Given the description of an element on the screen output the (x, y) to click on. 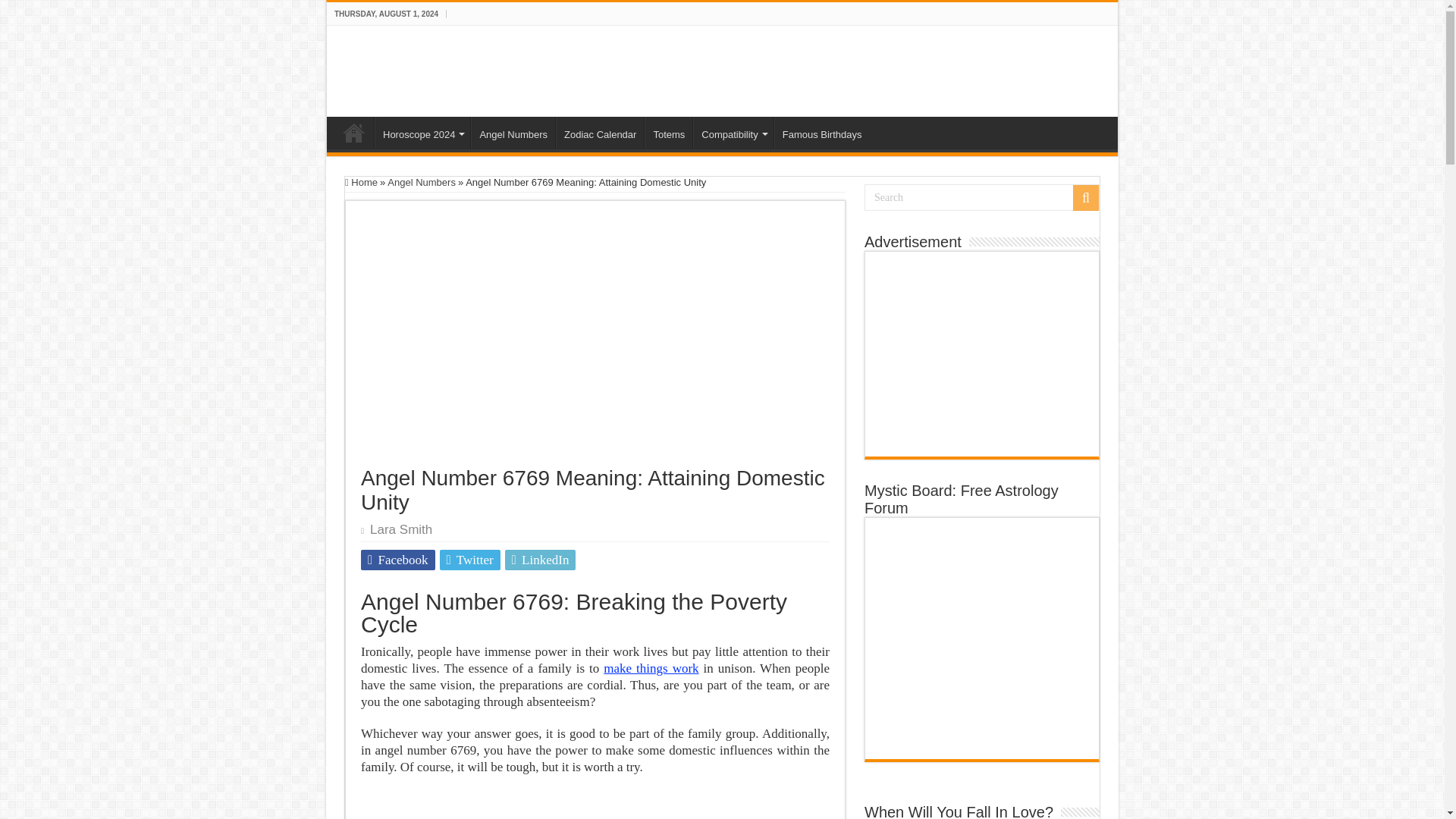
Totems (669, 132)
Twitter (469, 559)
Sun Signs (354, 132)
Facebook (398, 559)
make things work (651, 667)
Lara Smith (400, 529)
Home (354, 132)
Home (361, 182)
Compatibility (733, 132)
What Are Animal Totems (669, 132)
Angel Numbers (512, 132)
LinkedIn (540, 559)
Horoscope 2024 (422, 132)
Horoscope 2024 (422, 132)
Sun Signs (405, 67)
